Given the description of an element on the screen output the (x, y) to click on. 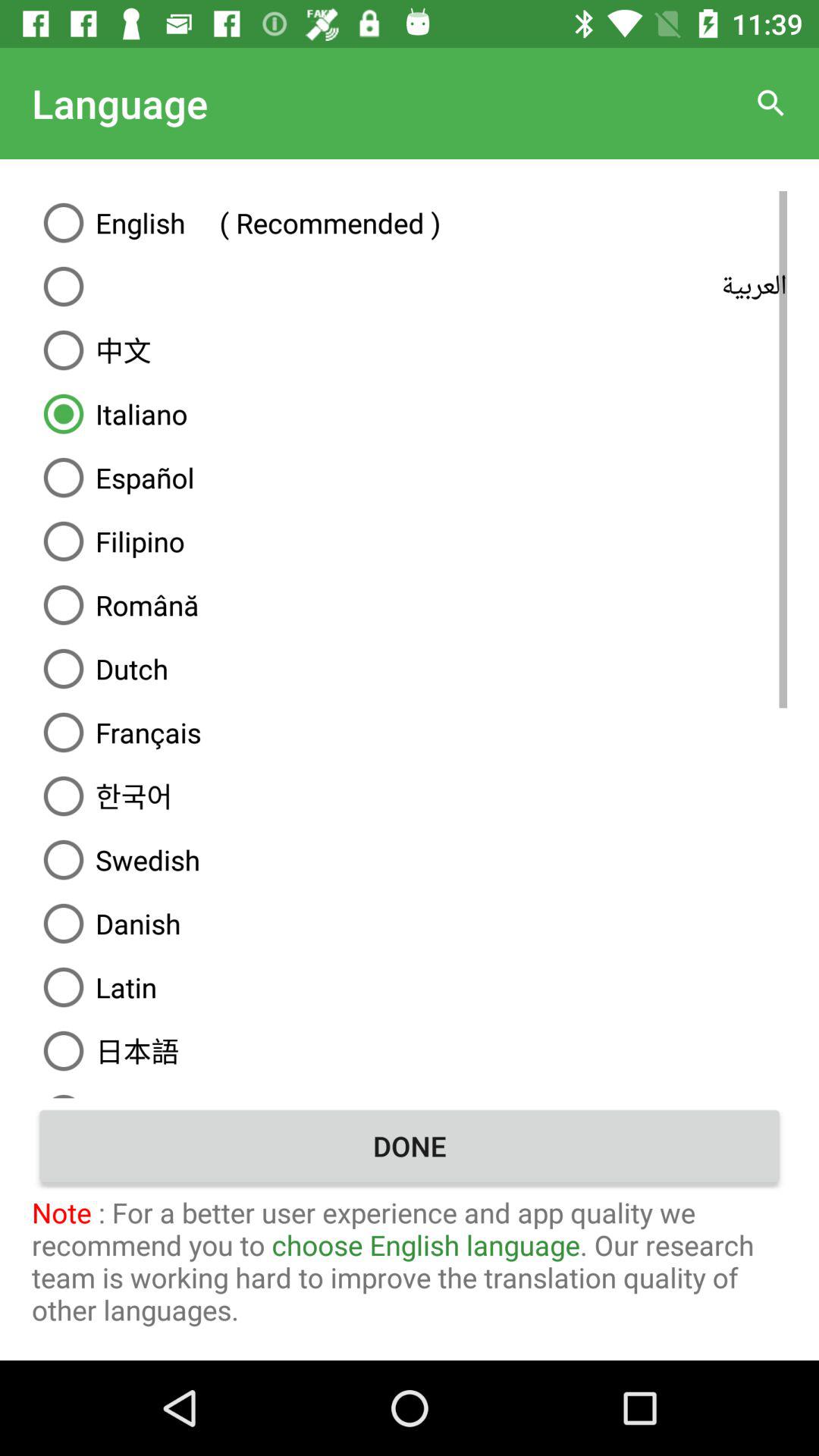
open item below latin item (409, 1050)
